Given the description of an element on the screen output the (x, y) to click on. 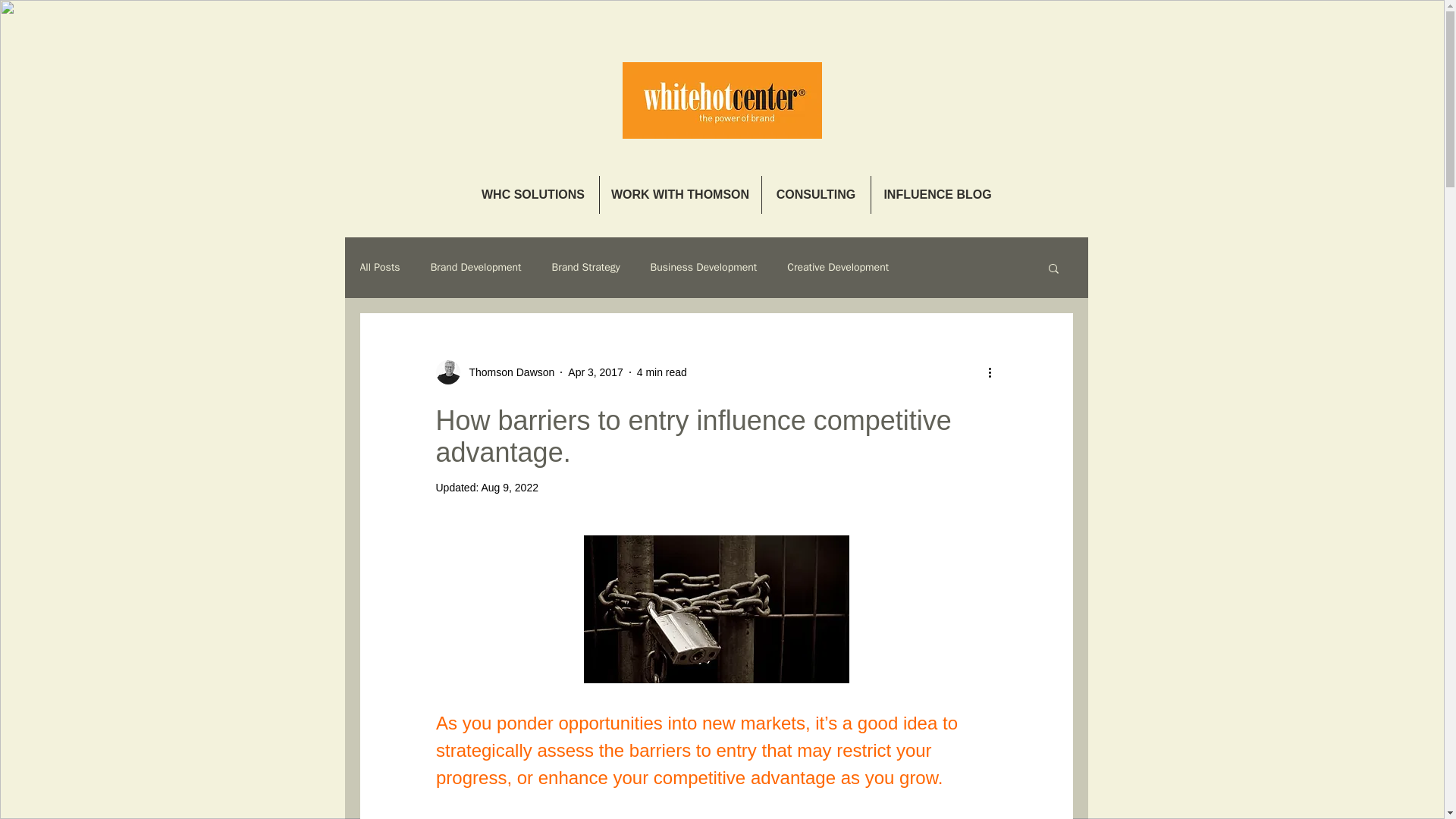
4 min read (662, 371)
Apr 3, 2017 (595, 371)
Aug 9, 2022 (509, 487)
All Posts (378, 267)
Thomson Dawson (507, 371)
Brand Development (475, 267)
INFLUENCE BLOG (937, 194)
Brand Strategy (585, 267)
Creative Development (837, 267)
Business Development (703, 267)
Thomson Dawson (494, 372)
CONSULTING (815, 194)
WORK WITH THOMSON (679, 194)
WHC SOLUTIONS (532, 194)
